Given the description of an element on the screen output the (x, y) to click on. 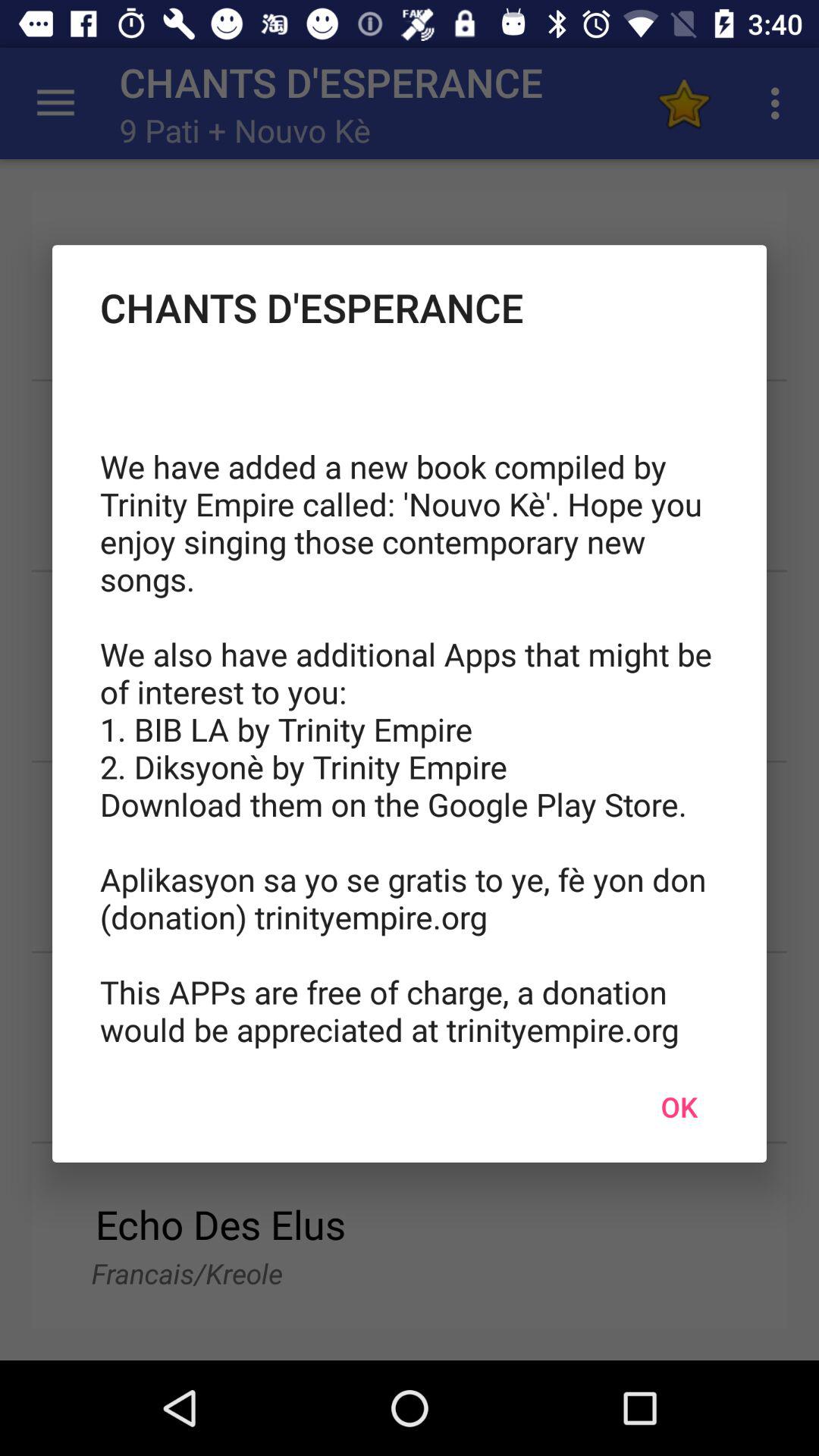
click the ok icon (678, 1106)
